Given the description of an element on the screen output the (x, y) to click on. 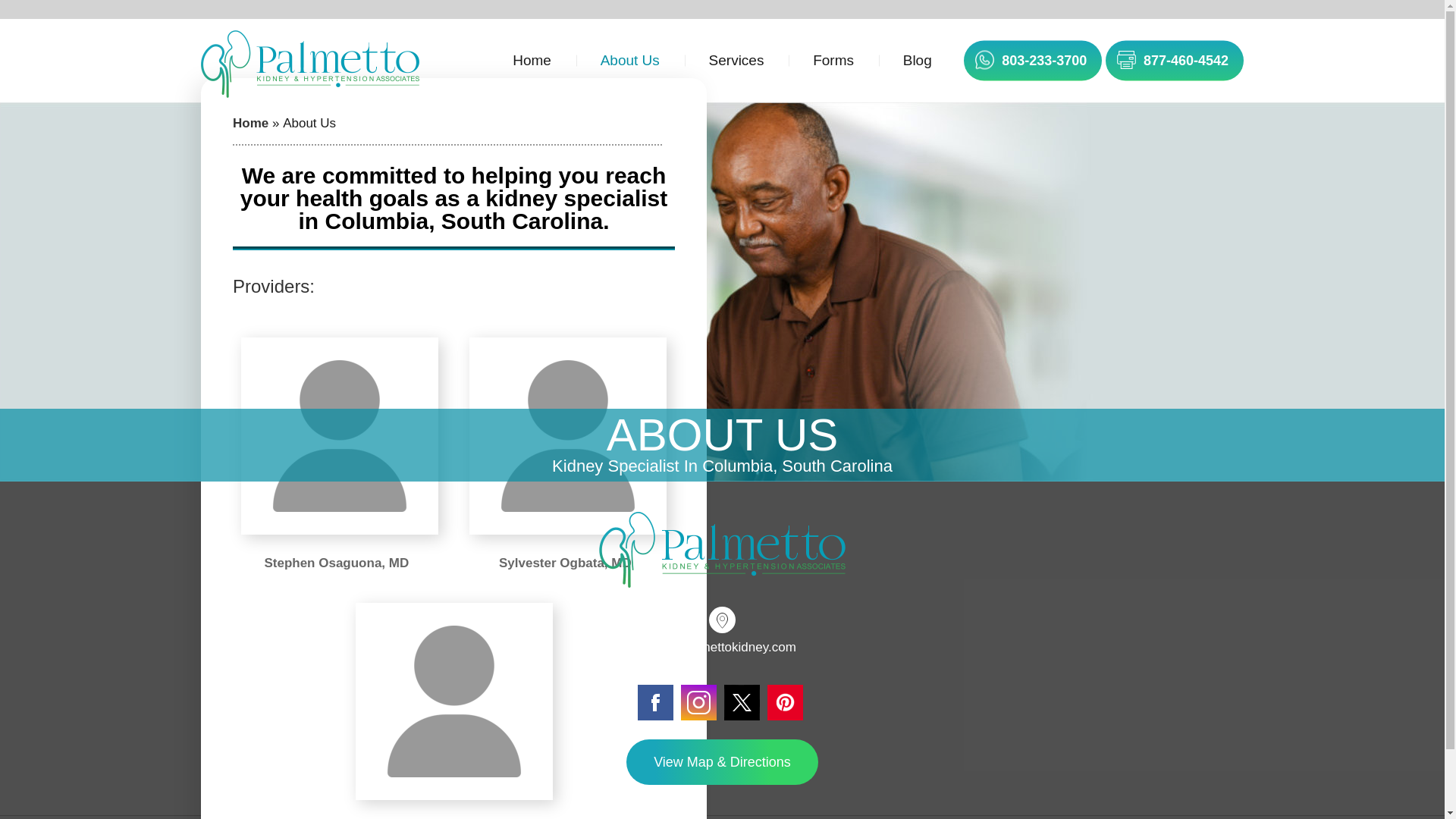
Forms (833, 60)
803-233-3700 (1043, 60)
877-460-4542 (1185, 60)
Home (531, 60)
About Us (630, 60)
Home (249, 122)
Blog (917, 60)
Services (736, 60)
